Given the description of an element on the screen output the (x, y) to click on. 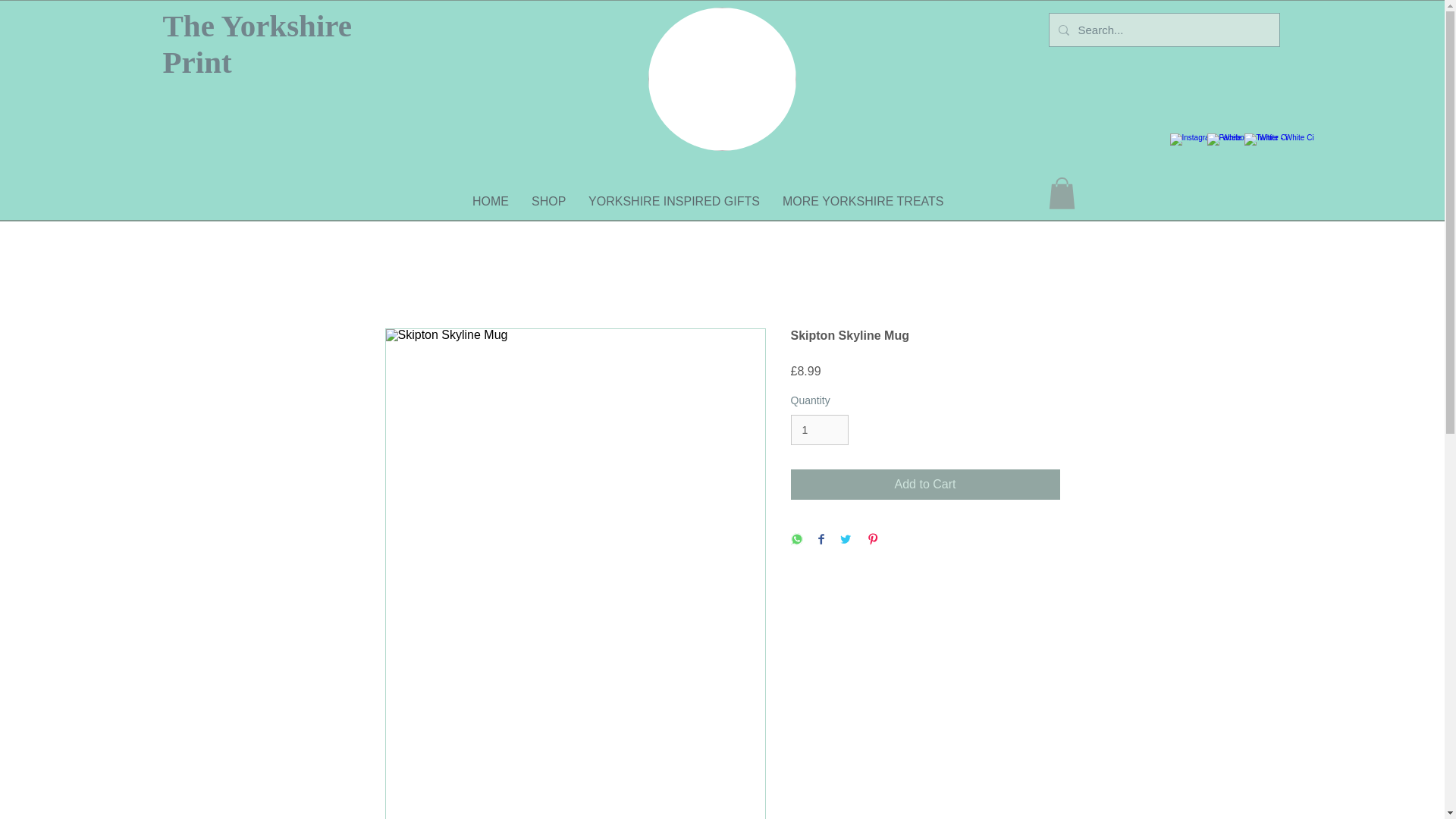
SHOP (547, 201)
MORE YORKSHIRE TREATS (863, 201)
1 (818, 429)
HOME (490, 201)
YORKSHIRE INSPIRED GIFTS (673, 201)
